Given the description of an element on the screen output the (x, y) to click on. 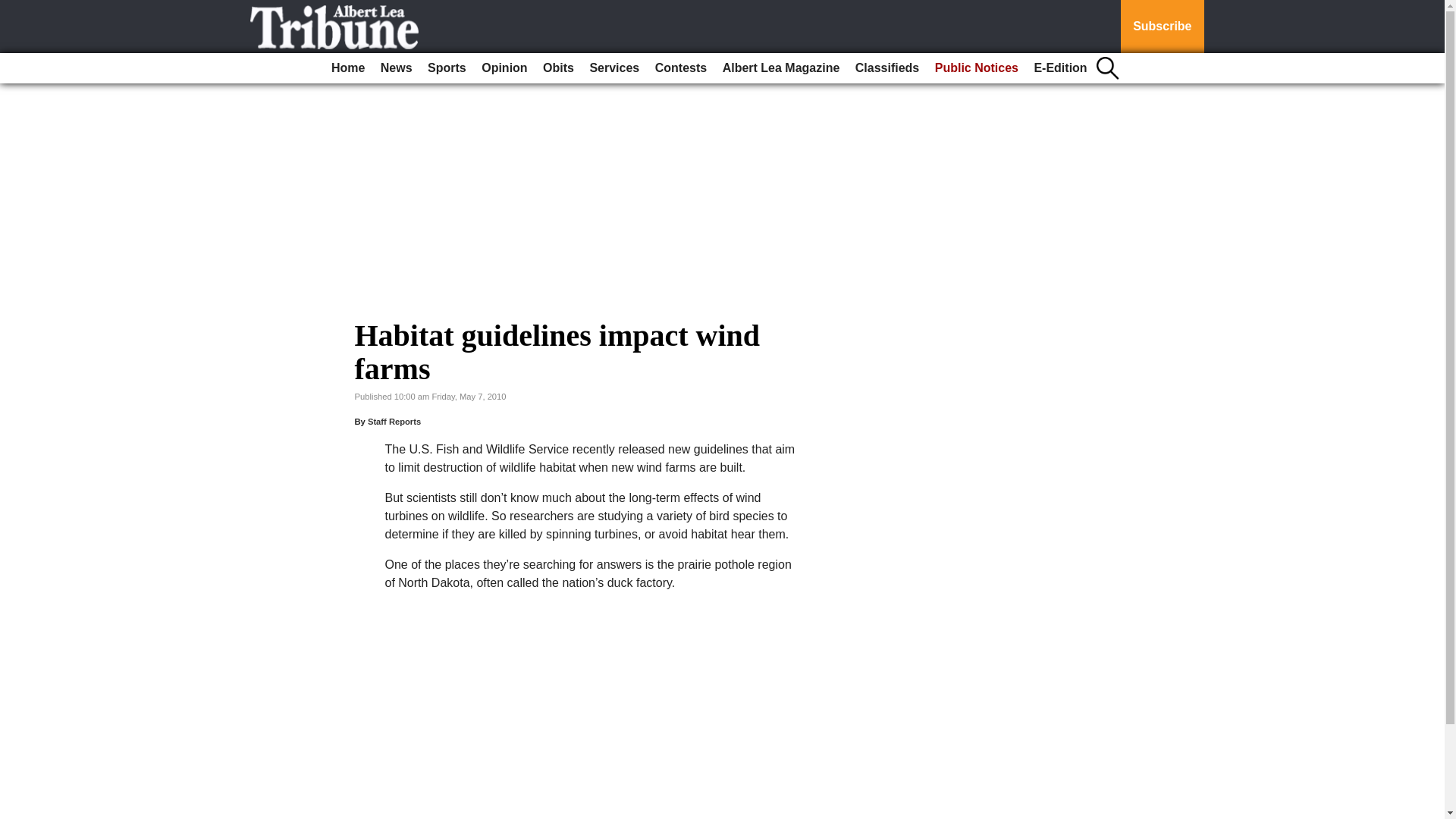
News (396, 68)
Home (347, 68)
Obits (558, 68)
Opinion (504, 68)
Sports (446, 68)
Services (614, 68)
Subscribe (1162, 26)
